Given the description of an element on the screen output the (x, y) to click on. 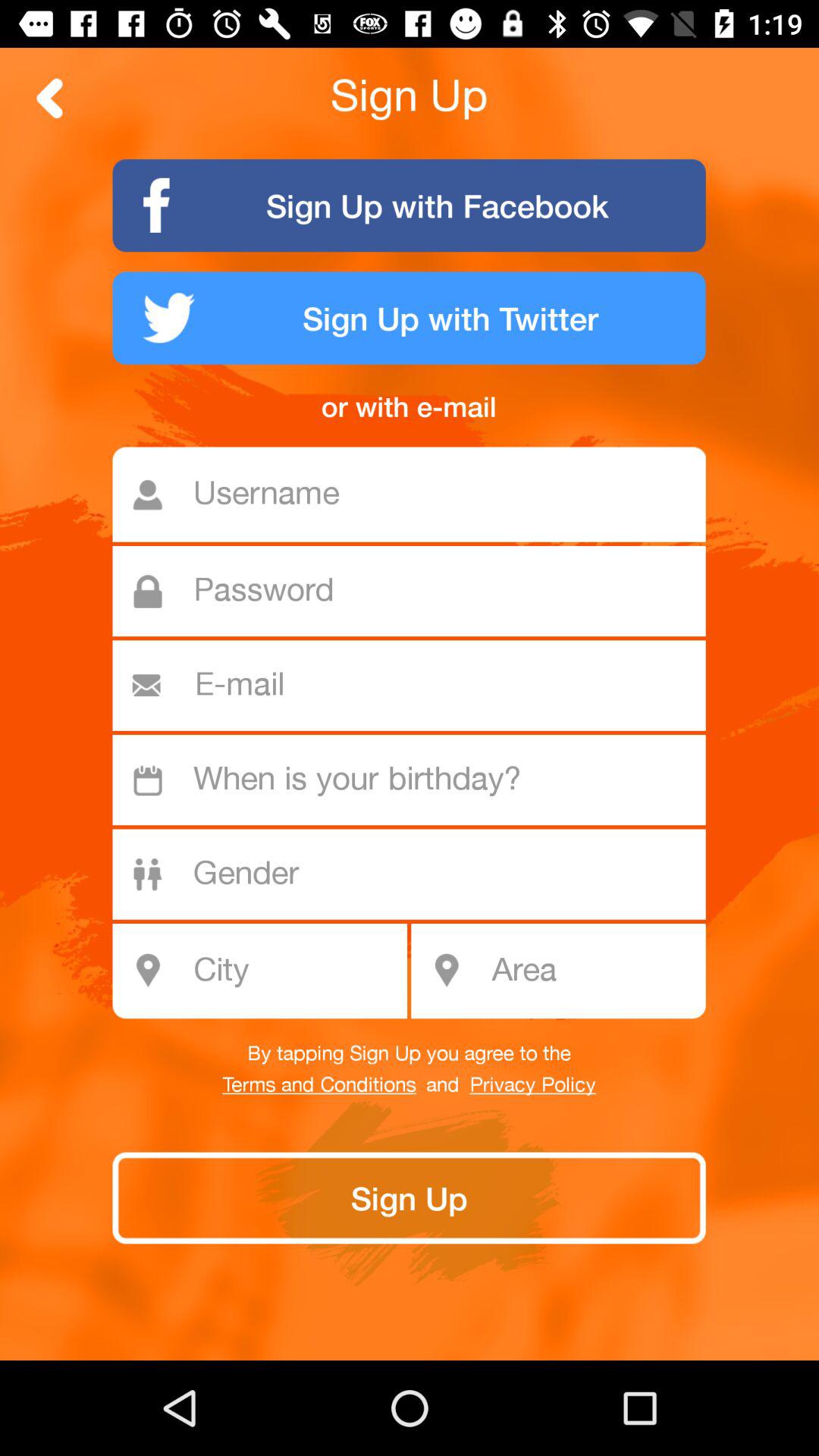
click icon above by tapping sign icon (593, 970)
